Given the description of an element on the screen output the (x, y) to click on. 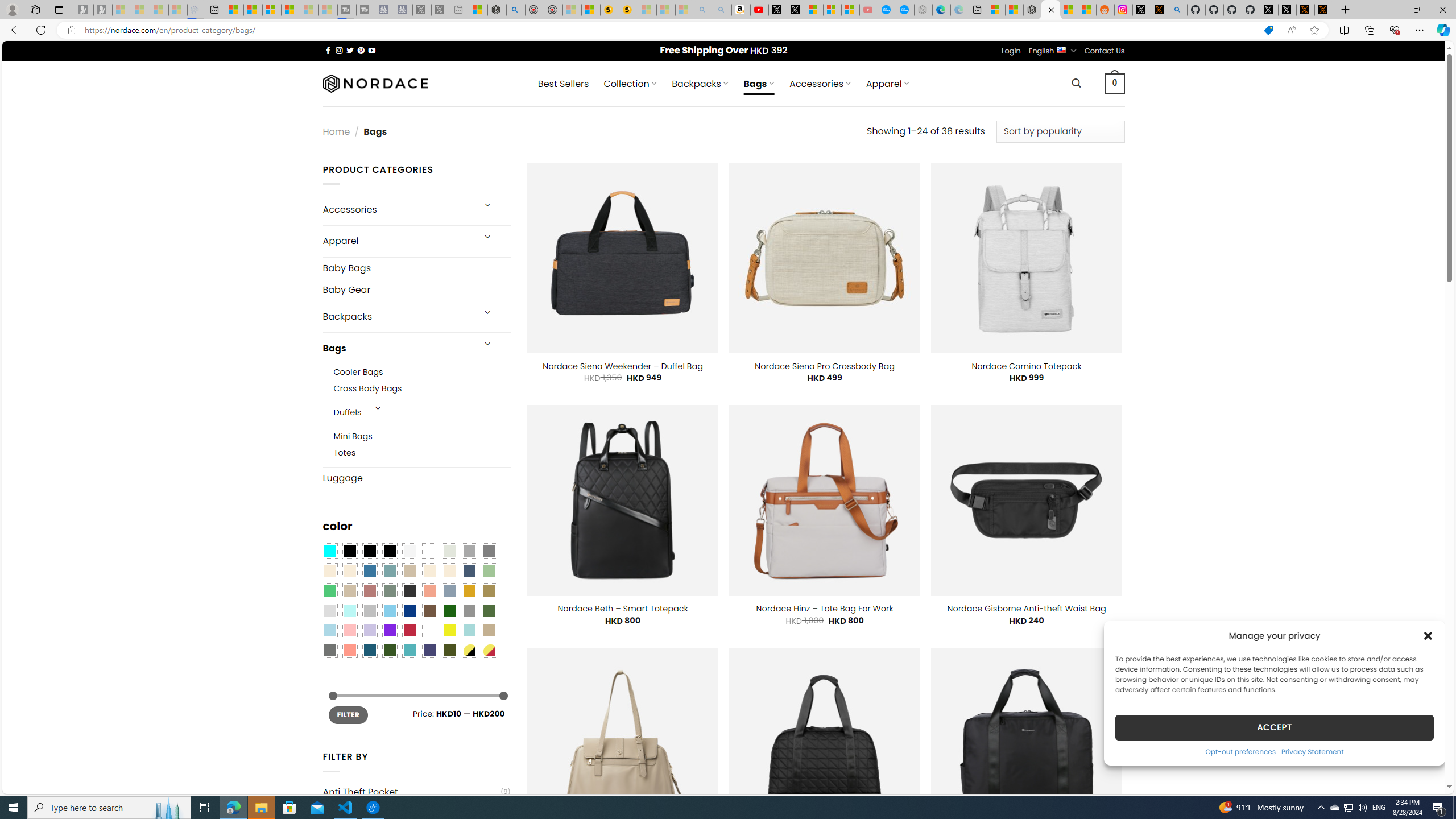
English (1061, 49)
Totes (422, 452)
Light Blue (329, 630)
poe - Search (515, 9)
FILTER (347, 714)
Navy Blue (408, 610)
Purple Navy (429, 649)
Black (369, 550)
Contact Us (1104, 50)
ACCEPT (1274, 727)
Luggage (416, 477)
Opt-out preferences (1240, 750)
Cross Body Bags (367, 388)
